Given the description of an element on the screen output the (x, y) to click on. 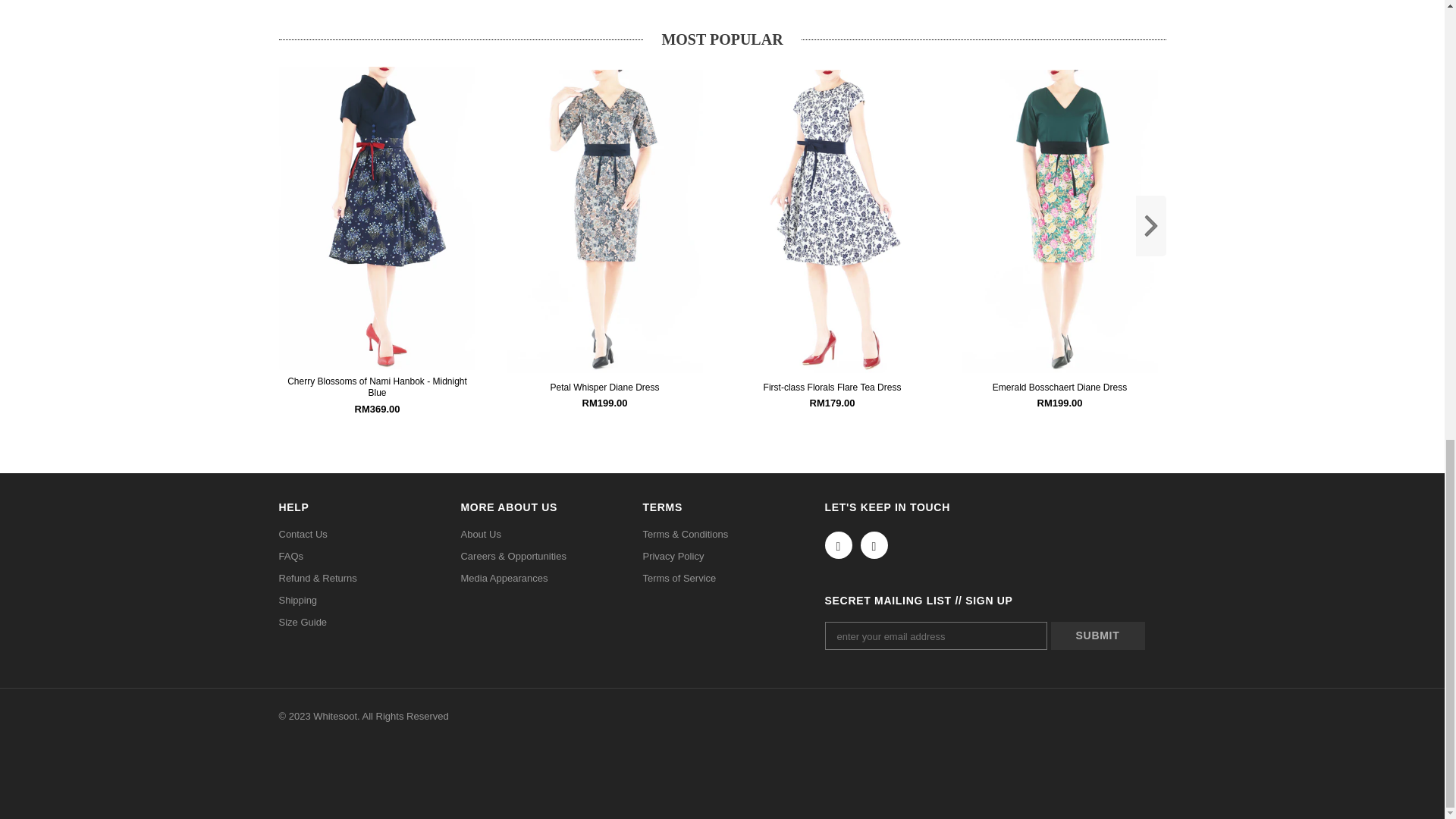
Submit (1097, 635)
